Given the description of an element on the screen output the (x, y) to click on. 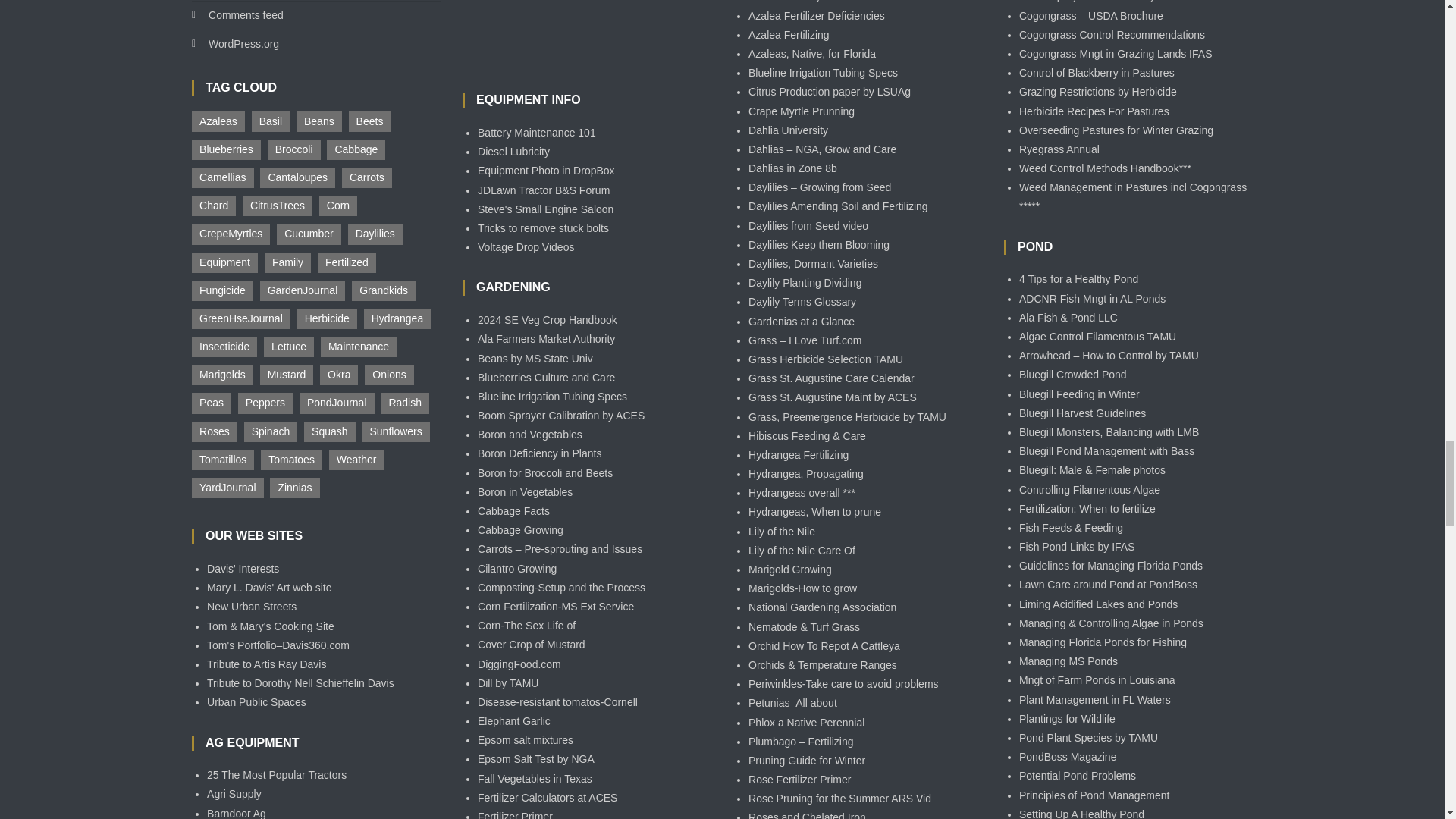
The life and times of Dorothy Davis of Mobile Alabama (300, 683)
The life and times of A. Ray Davis of Mobile Alabama (266, 664)
